Given the description of an element on the screen output the (x, y) to click on. 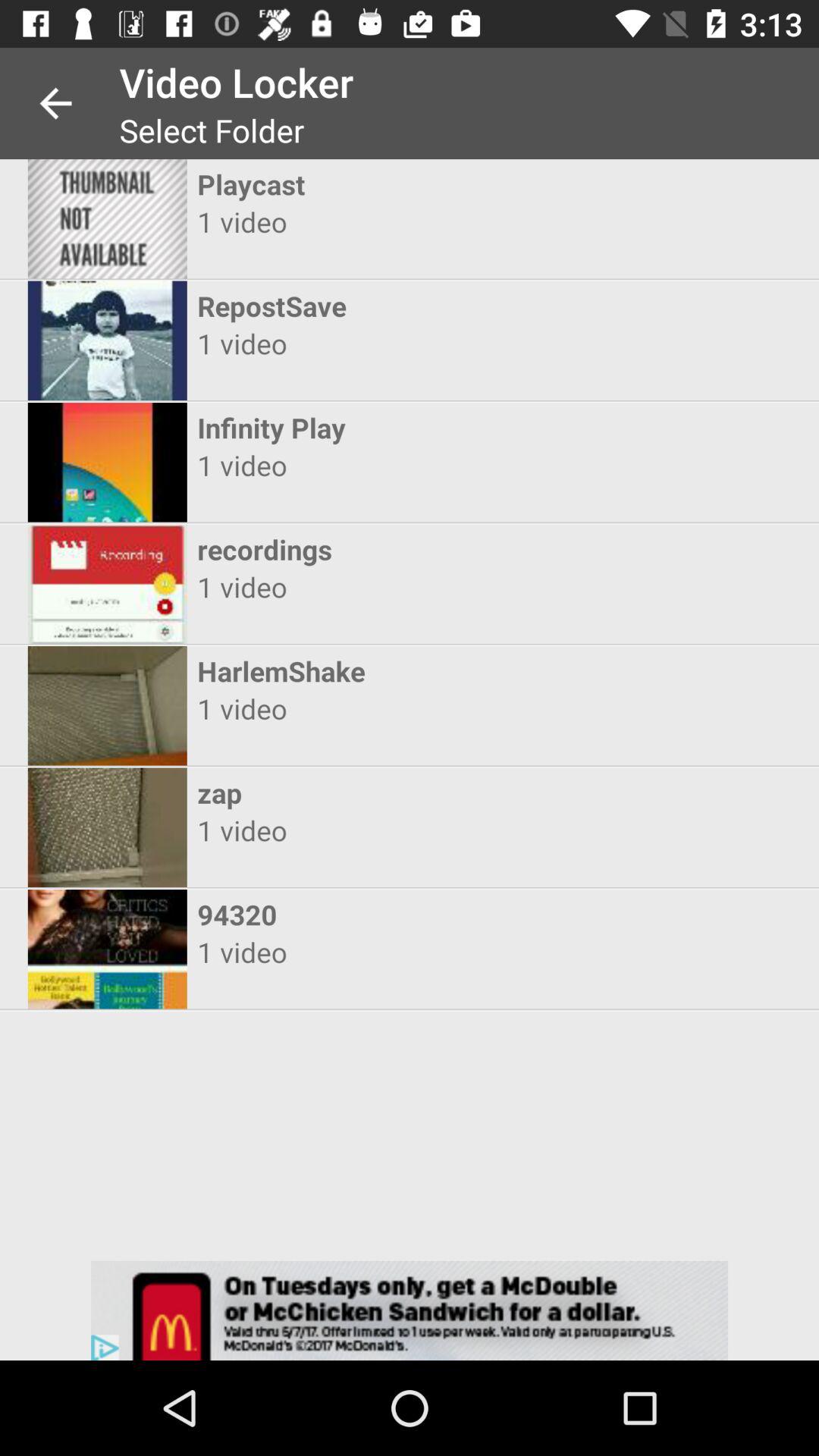
turn off playcast (396, 184)
